Given the description of an element on the screen output the (x, y) to click on. 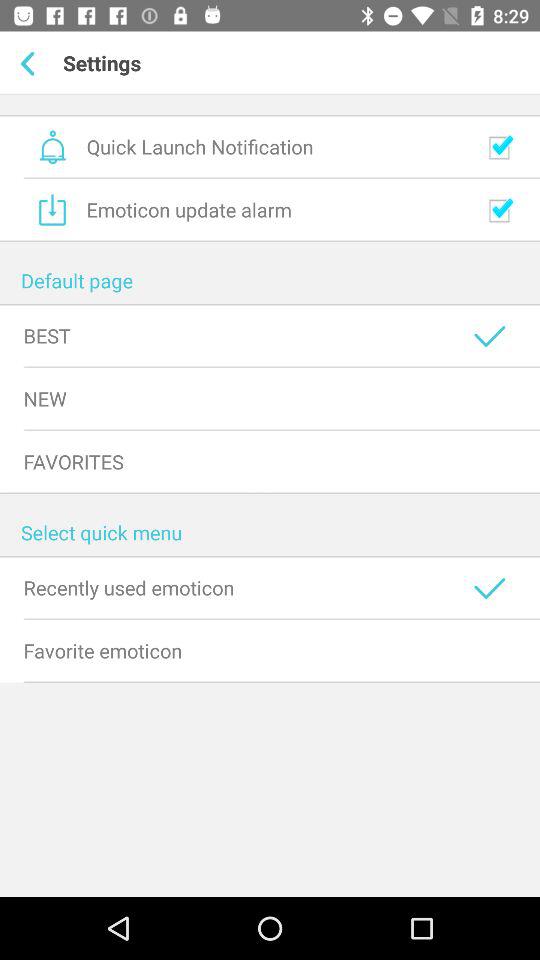
emoticon checkbox (500, 210)
